Given the description of an element on the screen output the (x, y) to click on. 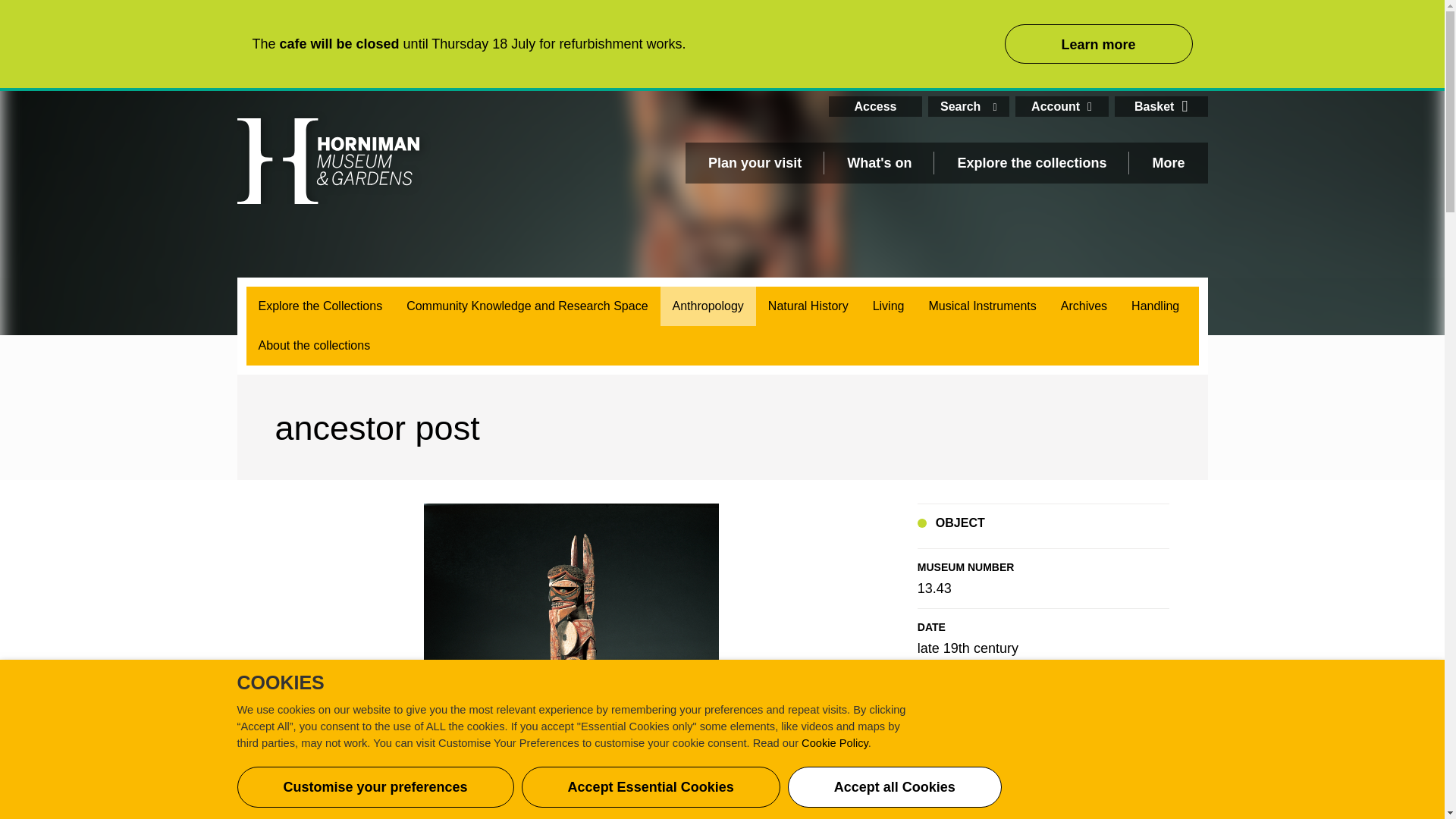
Learn more (1098, 43)
